Given the description of an element on the screen output the (x, y) to click on. 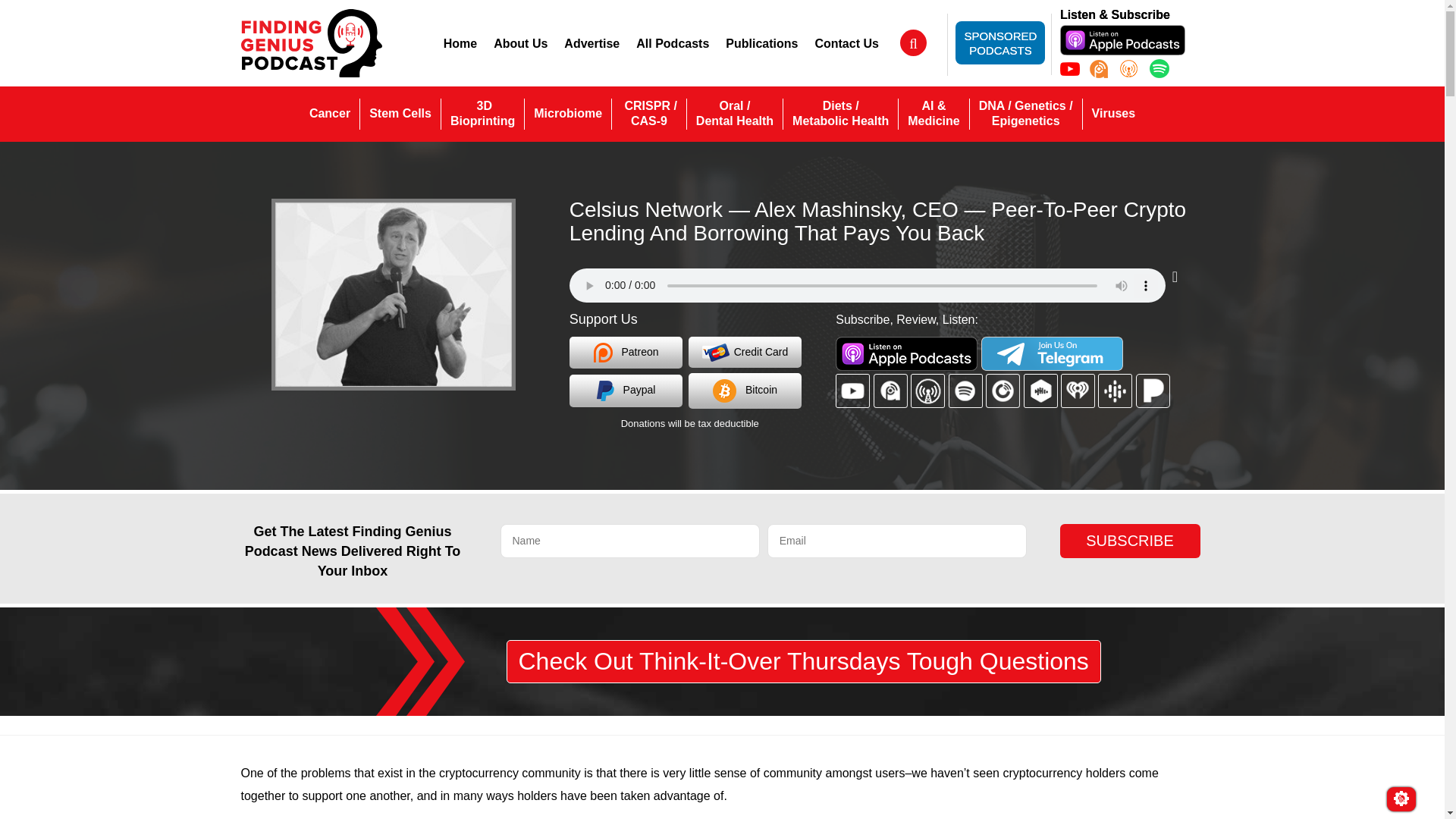
YouTube (1069, 67)
Subscribe (1129, 540)
About Us (520, 43)
Podcast Addict (1098, 67)
Credit Card (745, 351)
Advertise (591, 43)
Publications (761, 43)
Cancer (482, 113)
SPONSORED PODCASTS (329, 113)
Patreon (1000, 42)
Viruses (625, 352)
Home (1113, 113)
Advertise (459, 43)
Microbiome (591, 43)
